Given the description of an element on the screen output the (x, y) to click on. 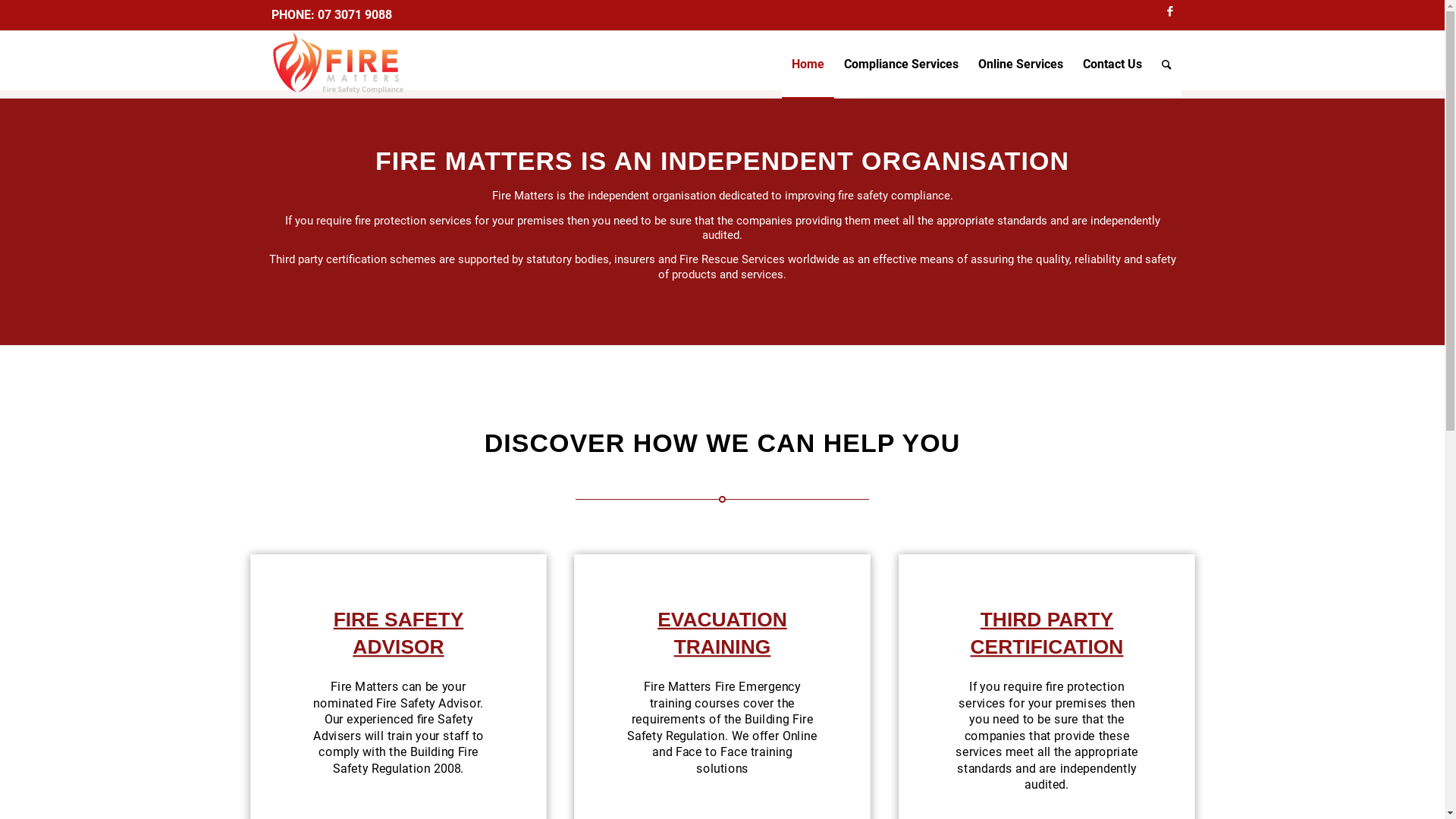
Compliance Services Element type: text (901, 64)
Contact Us Element type: text (1111, 64)
Online Services Element type: text (1019, 64)
EVACUATION
TRAINING Element type: text (716, 630)
FIRE SAFETY
ADVISOR Element type: text (391, 630)
Home Element type: text (807, 64)
Facebook Element type: hover (1169, 11)
THIRD PARTY CERTIFICATION Element type: text (1039, 630)
